Given the description of an element on the screen output the (x, y) to click on. 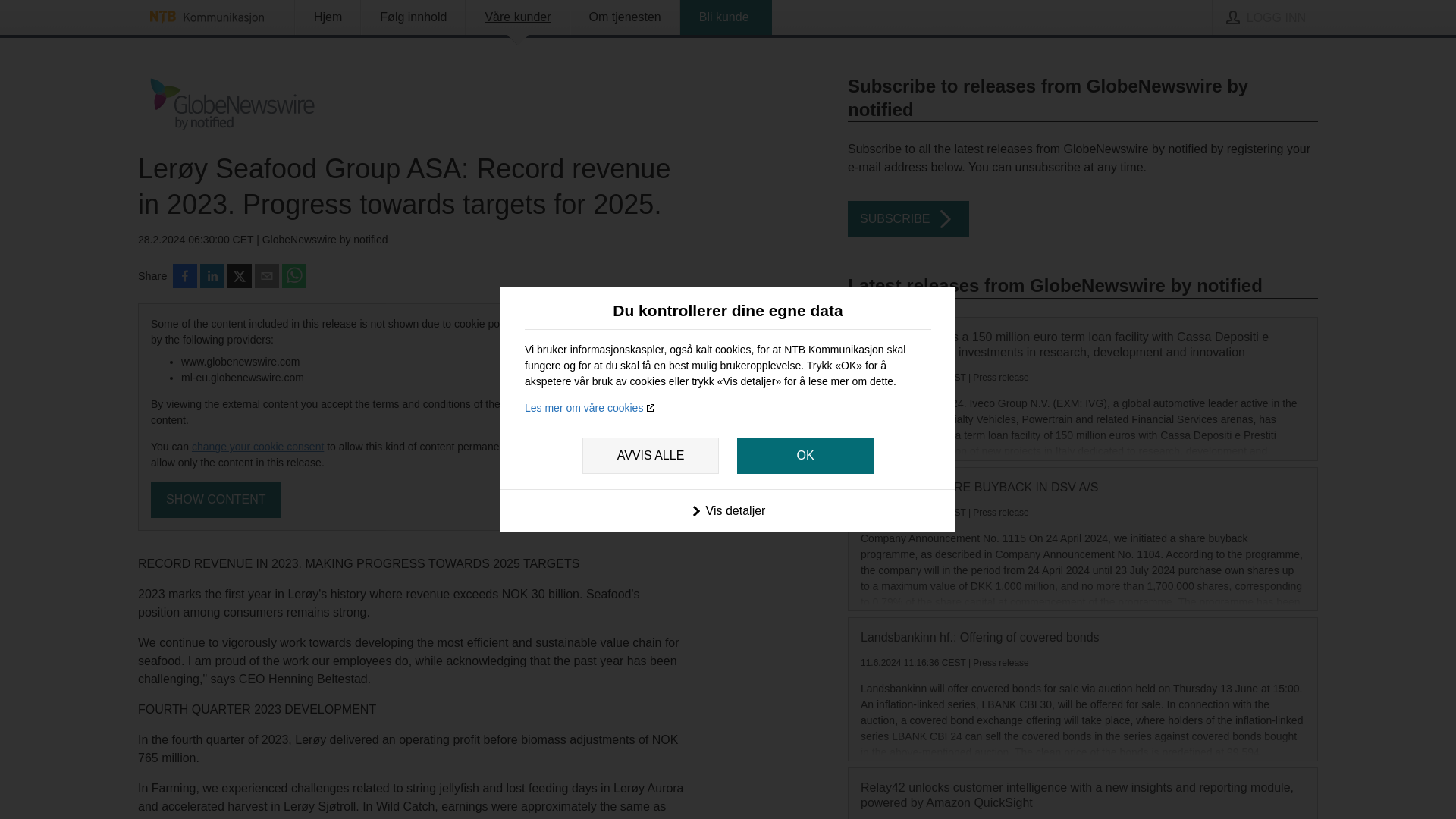
Vis detaljer (727, 510)
OK (804, 455)
AVVIS ALLE (650, 455)
